Given the description of an element on the screen output the (x, y) to click on. 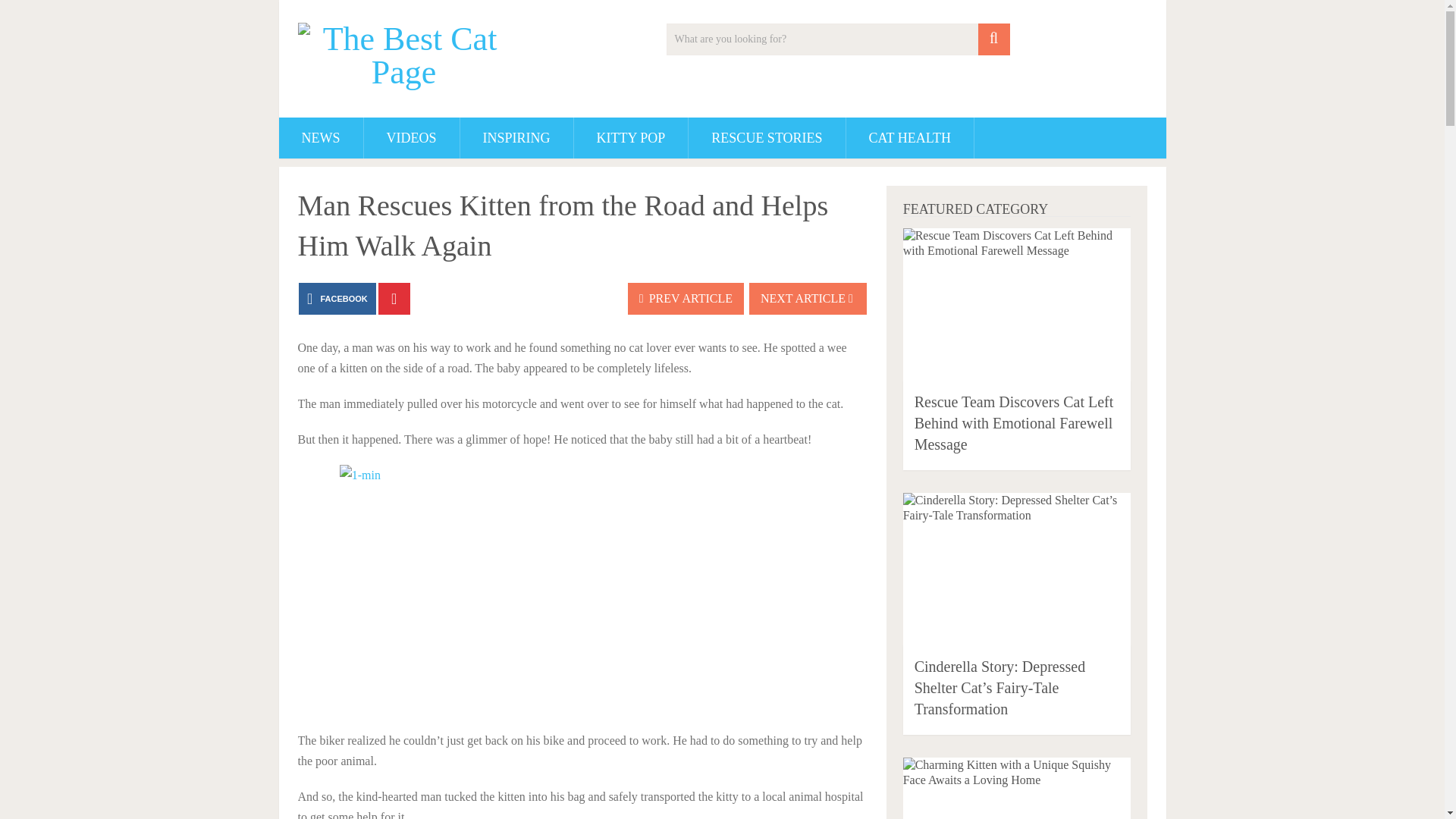
RESCUE STORIES (766, 137)
INSPIRING (516, 137)
NEWS (320, 137)
NEXT ARTICLE (807, 298)
KITTY POP (630, 137)
VIDEOS (412, 137)
CAT HEALTH (909, 137)
PREV ARTICLE (685, 298)
FACEBOOK (336, 298)
